Given the description of an element on the screen output the (x, y) to click on. 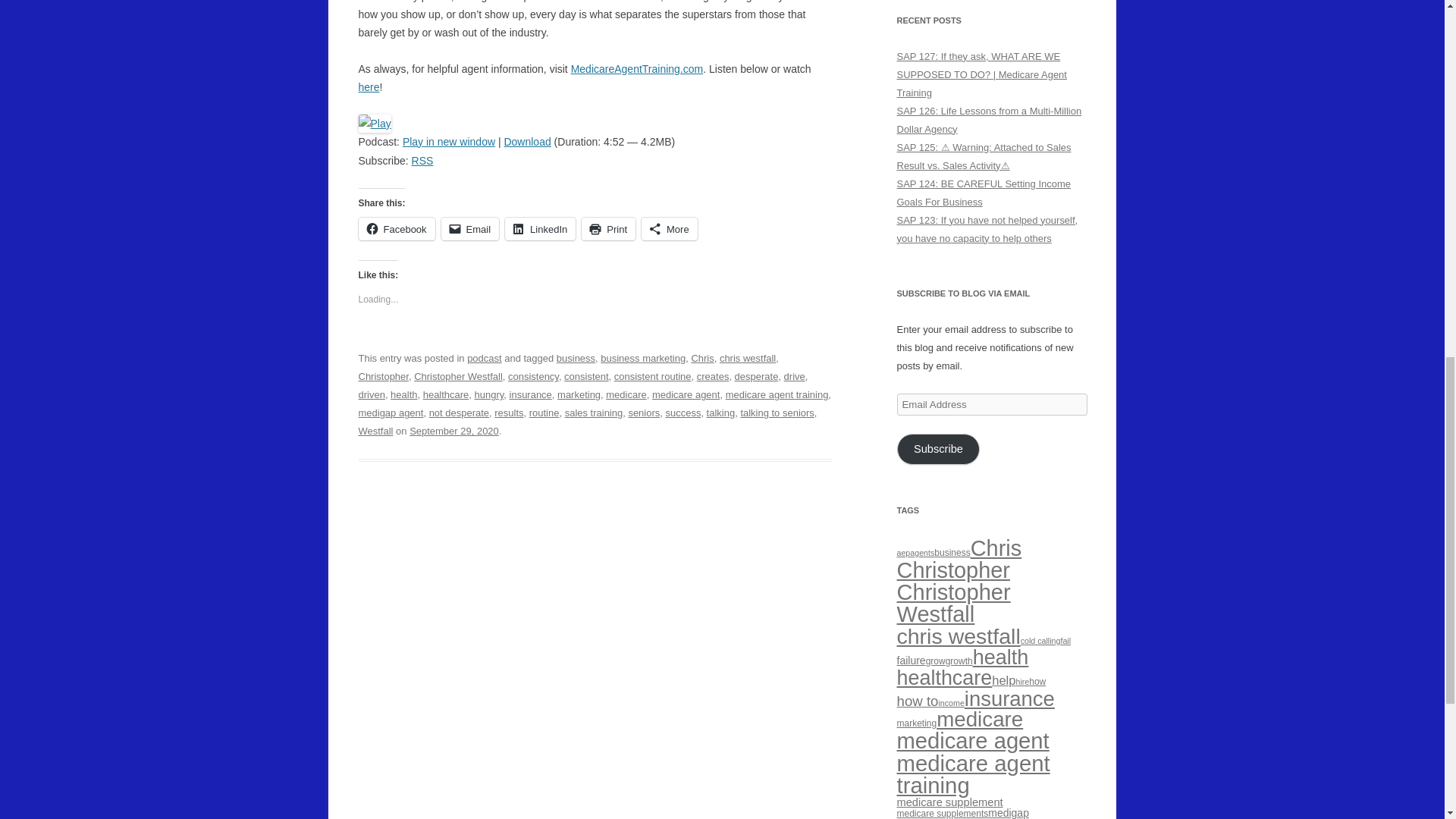
Play in new window (449, 141)
consistent (586, 376)
Click to share on Facebook (395, 228)
LinkedIn (540, 228)
drive (794, 376)
chris westfall (747, 357)
business (575, 357)
Print (607, 228)
Christopher Westfall (457, 376)
business marketing (642, 357)
here (368, 87)
consistency (533, 376)
MedicareAgentTraining.com (636, 69)
Email (470, 228)
Download (526, 141)
